Given the description of an element on the screen output the (x, y) to click on. 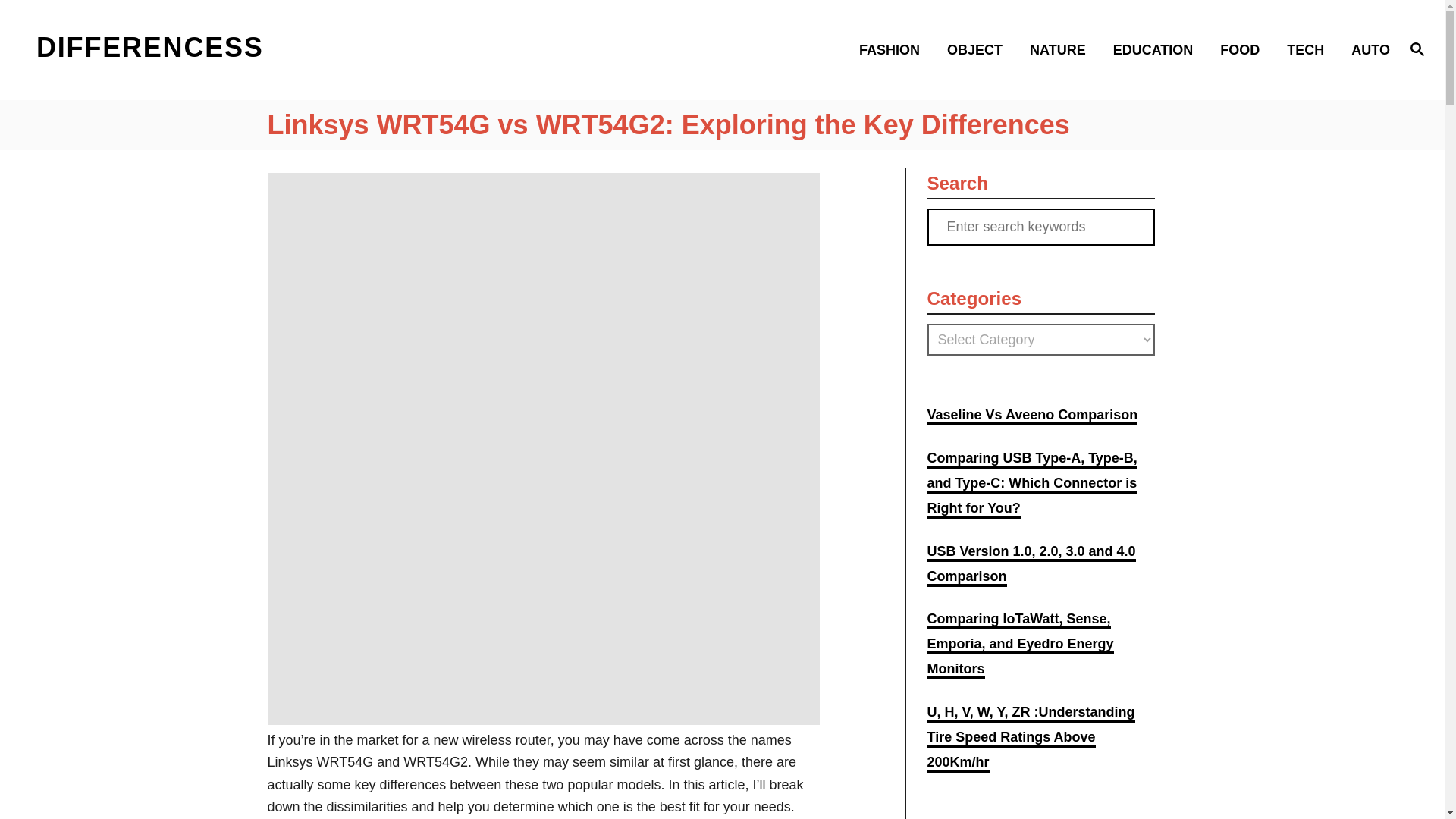
NATURE (1061, 49)
USB Version 1.0, 2.0, 3.0 and 4.0 Comparison (1030, 565)
EDUCATION (1157, 49)
FOOD (1244, 49)
DIFFERENCESS (204, 49)
OBJECT (978, 49)
FASHION (893, 49)
Differencess (204, 49)
Vaseline Vs Aveeno Comparison (1031, 416)
Magnifying Glass (1416, 48)
